Given the description of an element on the screen output the (x, y) to click on. 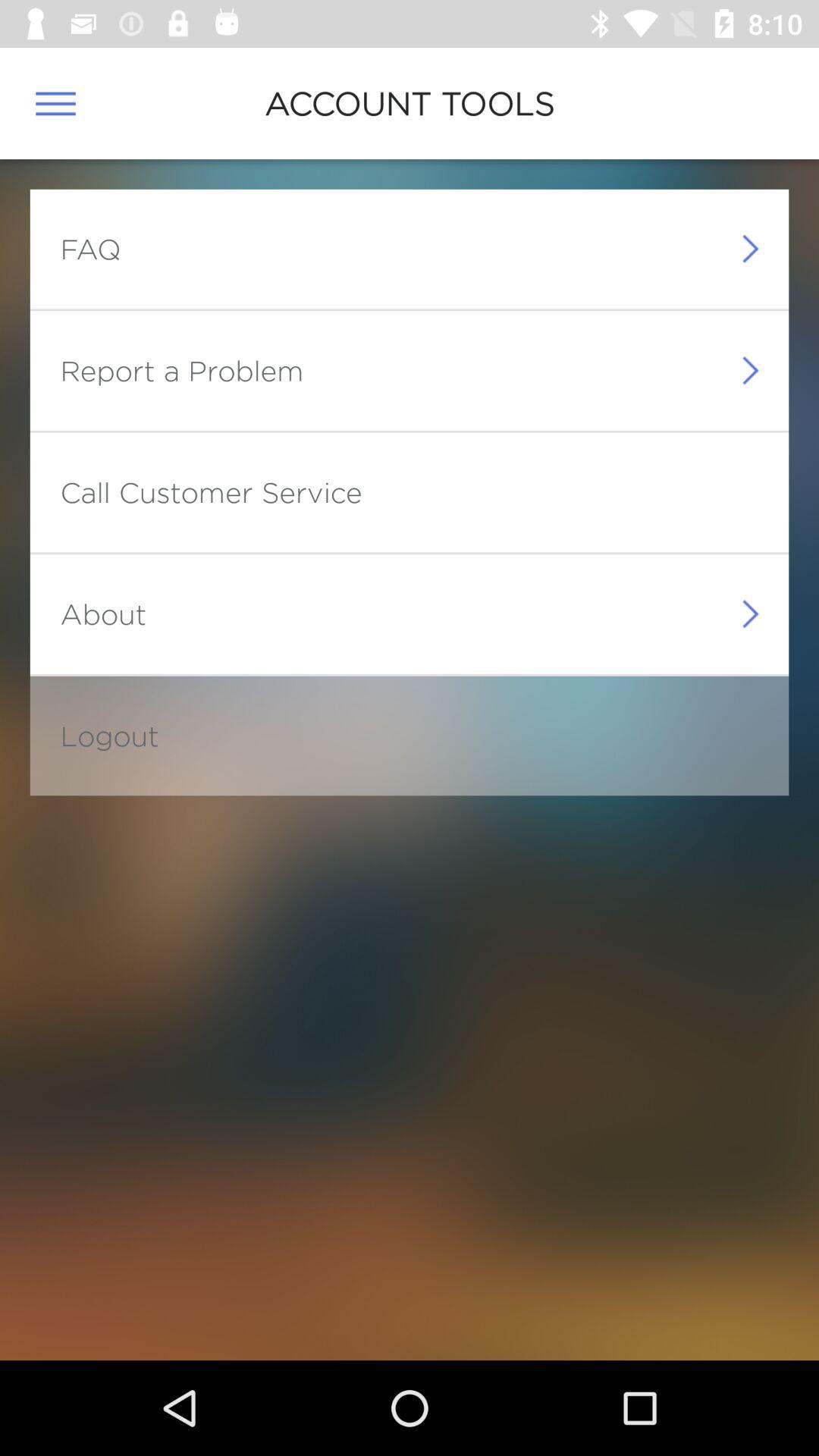
choose icon below call customer service (103, 613)
